Given the description of an element on the screen output the (x, y) to click on. 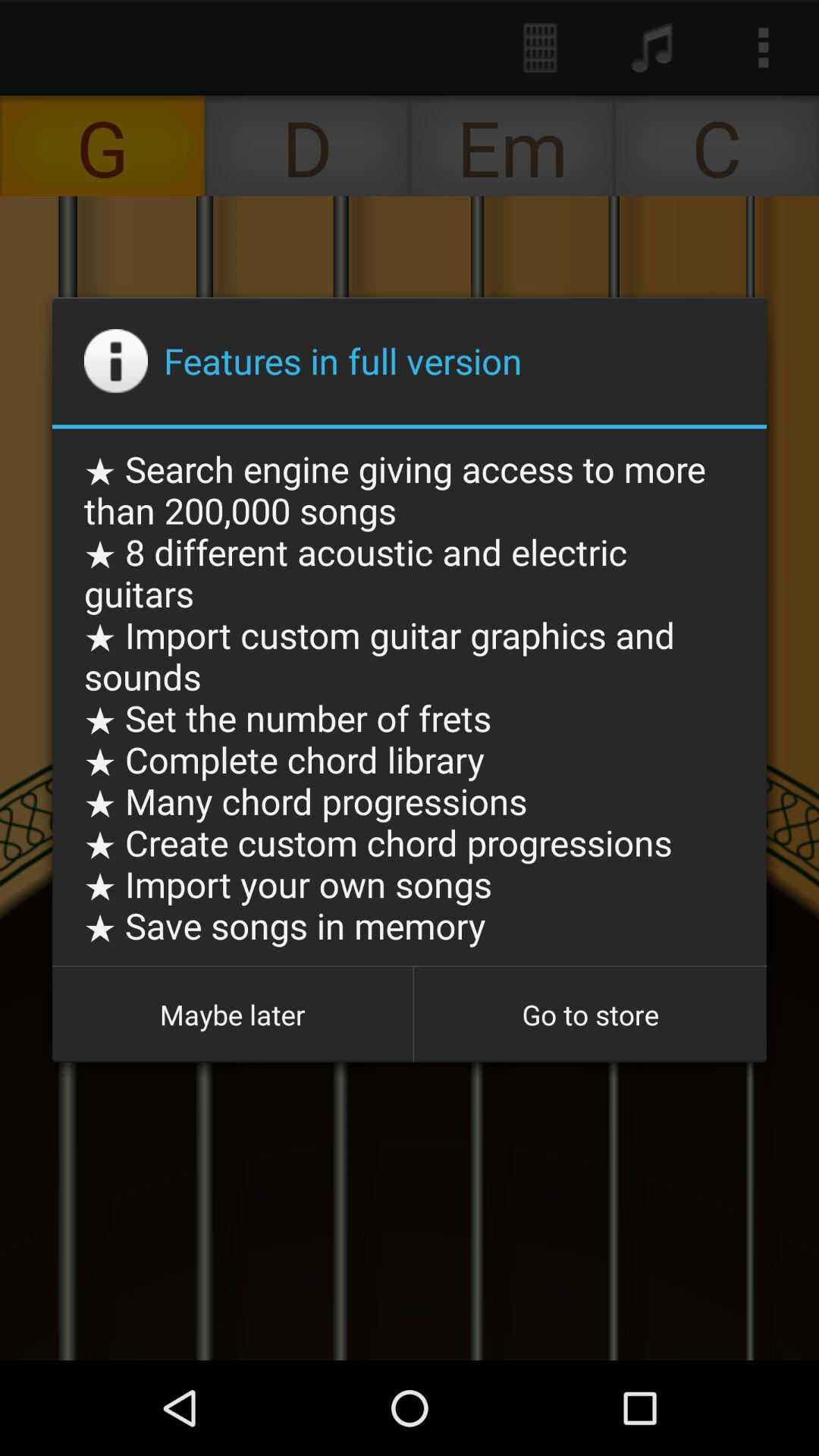
tap maybe later at the bottom left corner (232, 1014)
